Given the description of an element on the screen output the (x, y) to click on. 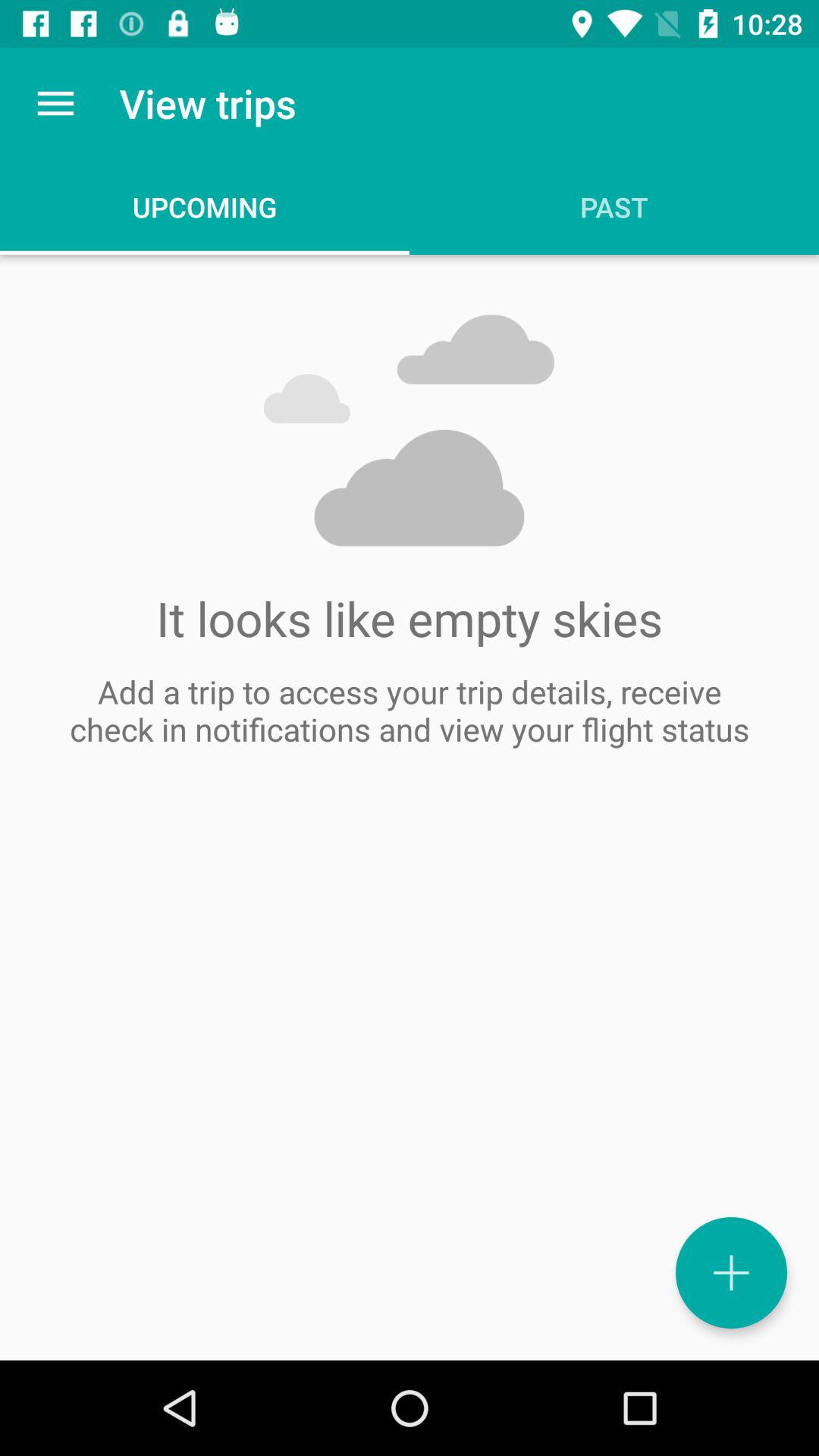
click icon at the bottom right corner (731, 1272)
